Given the description of an element on the screen output the (x, y) to click on. 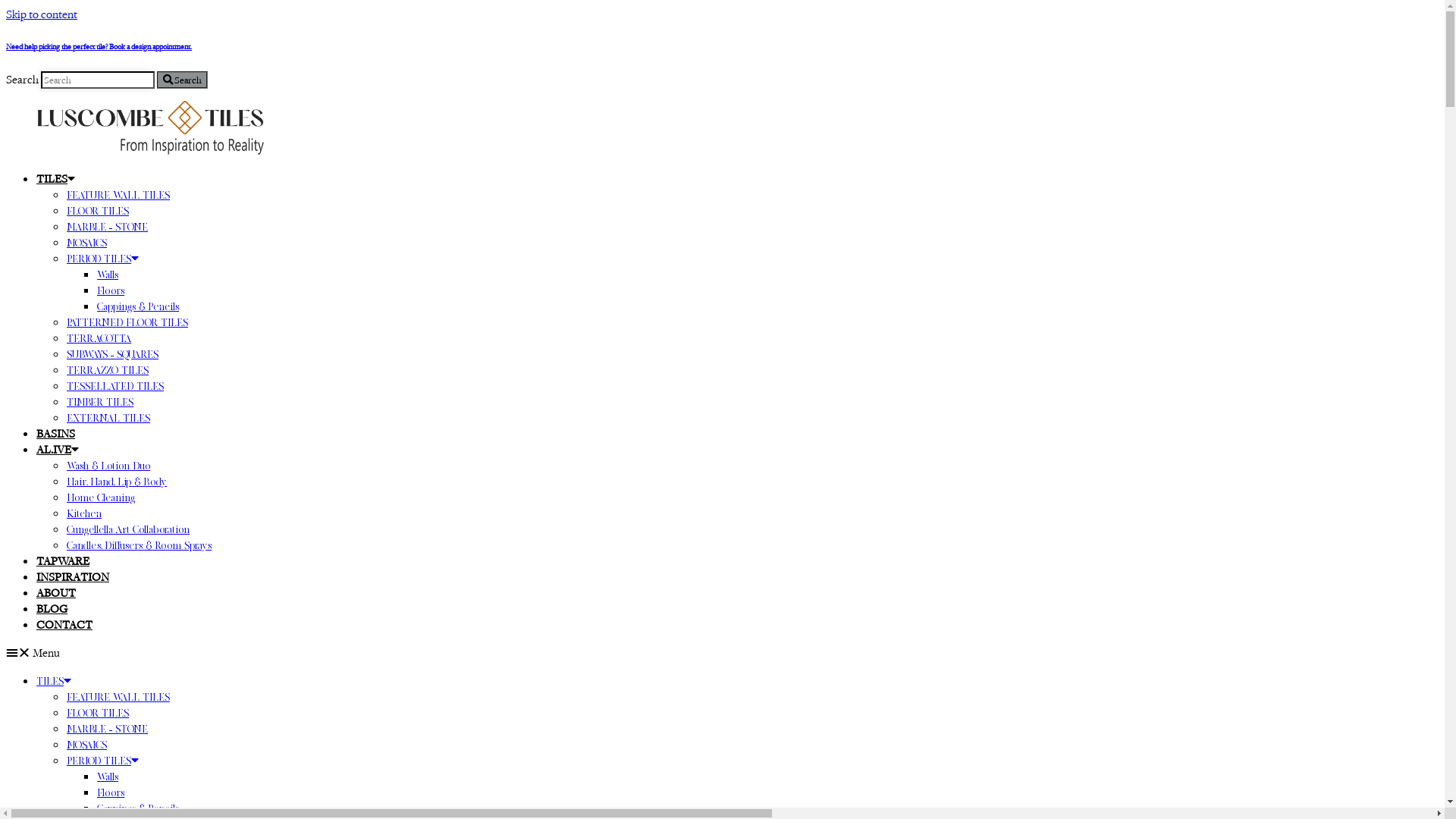
MOSAICS Element type: text (86, 242)
SUBWAYS + SQUARES Element type: text (112, 354)
Candles, Diffusers & Room Sprays Element type: text (138, 545)
INSPIRATION Element type: text (72, 576)
BASINS Element type: text (55, 433)
MARBLE + STONE Element type: text (106, 226)
Cappings & Pencils Element type: text (137, 306)
TILES Element type: text (55, 178)
CONTACT Element type: text (64, 624)
PERIOD TILES Element type: text (102, 258)
AL.IVE Element type: text (57, 449)
Cungellella Art Collaboration Element type: text (127, 529)
MOSAICS Element type: text (86, 744)
FLOOR TILES Element type: text (97, 712)
MARBLE + STONE Element type: text (106, 728)
Floors Element type: text (110, 290)
PERIOD TILES Element type: text (102, 760)
Walls Element type: text (107, 776)
Cappings & Pencils Element type: text (137, 808)
TERRACOTTA Element type: text (98, 338)
TERRAZZO TILES Element type: text (107, 370)
Hair, Hand, Lip & Body Element type: text (116, 481)
FEATURE WALL TILES Element type: text (117, 194)
TESSELLATED TILES Element type: text (114, 385)
ABOUT Element type: text (55, 592)
Wash & Lotion Duo Element type: text (108, 465)
BLOG Element type: text (51, 608)
PATTERNED FLOOR TILES Element type: text (127, 322)
Walls Element type: text (107, 274)
EXTERNAL TILES Element type: text (108, 417)
FEATURE WALL TILES Element type: text (117, 696)
TIMBER TILES Element type: text (99, 401)
TAPWARE Element type: text (62, 560)
Floors Element type: text (110, 792)
Kitchen Element type: text (83, 513)
Home Cleaning Element type: text (100, 497)
Search Element type: text (181, 79)
FLOOR TILES Element type: text (97, 210)
Skip to content Element type: text (41, 13)
TILES Element type: text (53, 680)
